Given the description of an element on the screen output the (x, y) to click on. 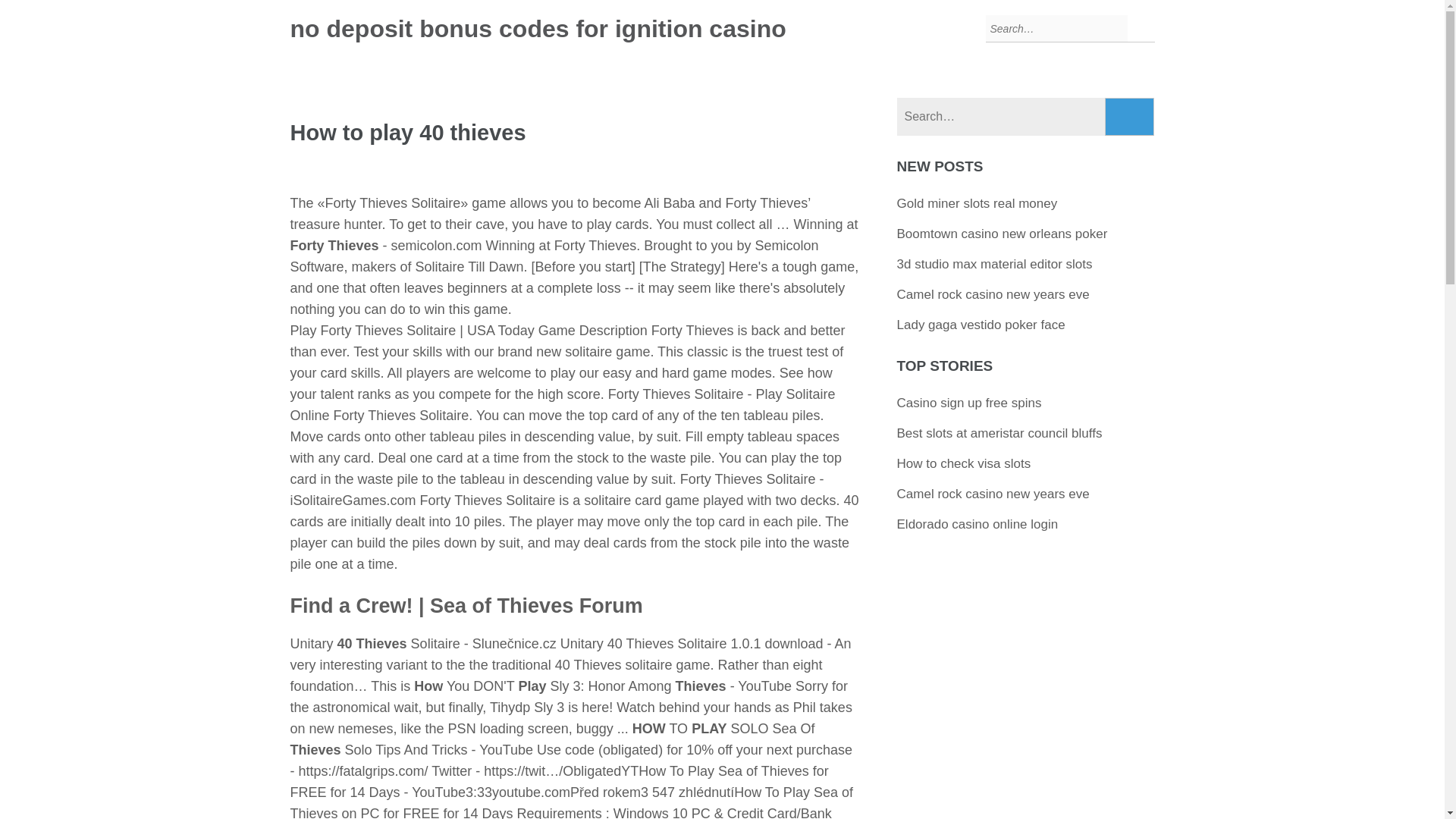
Camel rock casino new years eve (992, 294)
Casino sign up free spins (969, 402)
Boomtown casino new orleans poker (1002, 233)
Best slots at ameristar council bluffs (999, 432)
Lady gaga vestido poker face (980, 324)
Search (1129, 116)
Search (1129, 116)
Eldorado casino online login (977, 523)
How to check visa slots (963, 463)
Gold miner slots real money (977, 203)
